Given the description of an element on the screen output the (x, y) to click on. 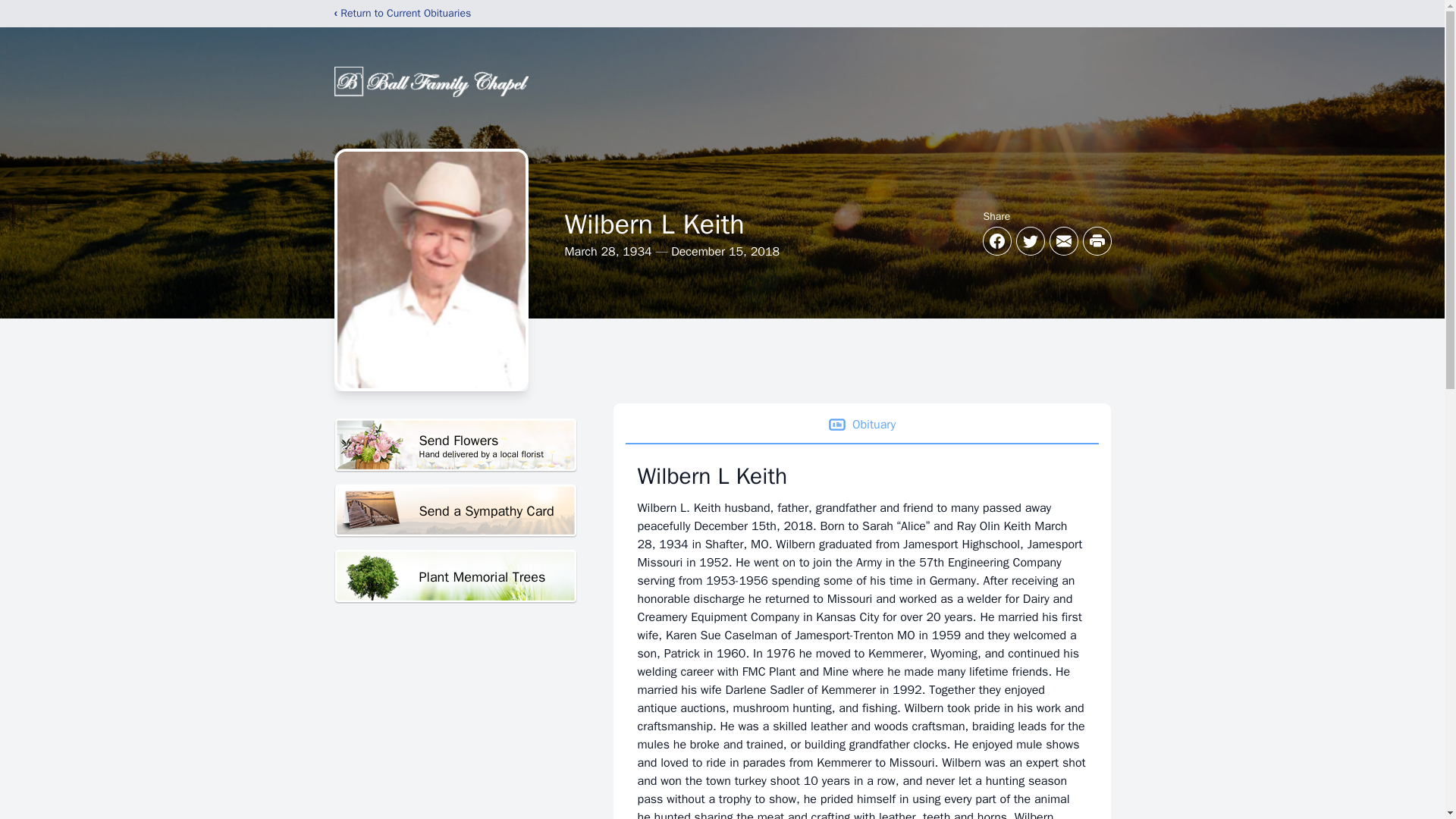
Send a Sympathy Card (454, 511)
Obituary (860, 425)
Plant Memorial Trees (454, 576)
